Given the description of an element on the screen output the (x, y) to click on. 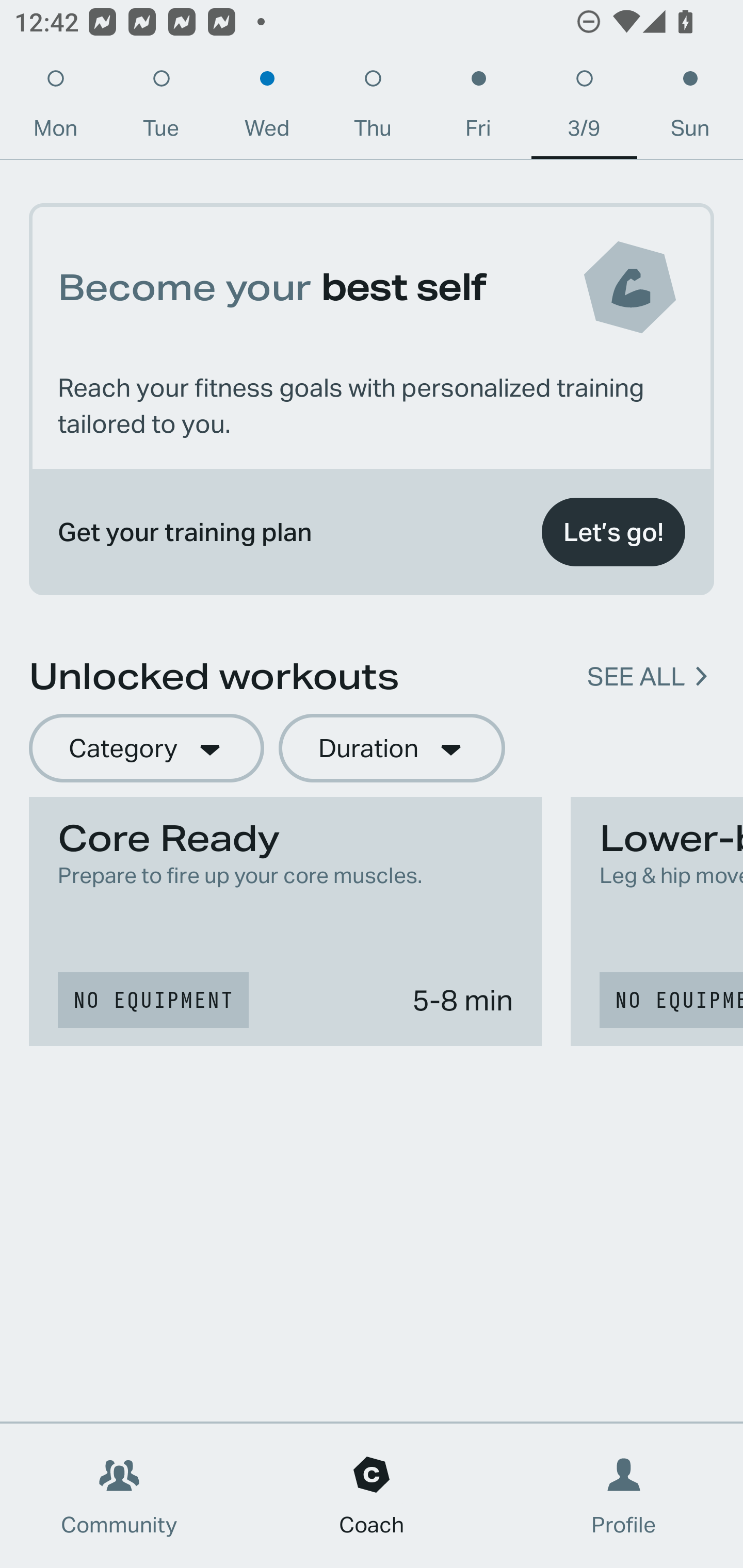
Mon (55, 108)
Tue (160, 108)
Wed (266, 108)
Thu (372, 108)
Fri (478, 108)
3/9 (584, 108)
Sun (690, 108)
Let’s go! (613, 532)
SEE ALL (635, 676)
Category (146, 748)
Duration (391, 748)
Community (119, 1495)
Profile (624, 1495)
